Given the description of an element on the screen output the (x, y) to click on. 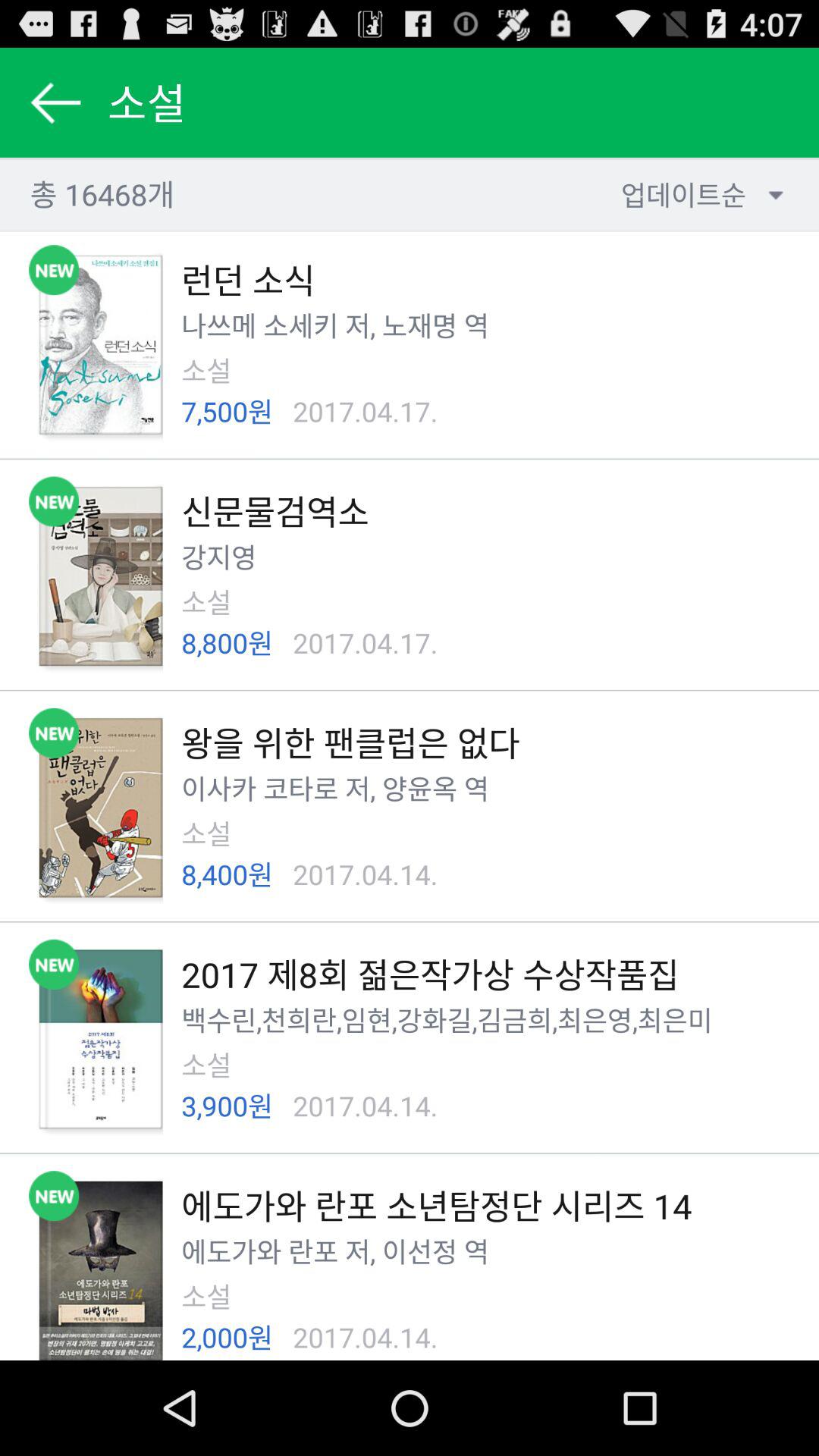
press the app to the right of the ,  app (419, 1251)
